Given the description of an element on the screen output the (x, y) to click on. 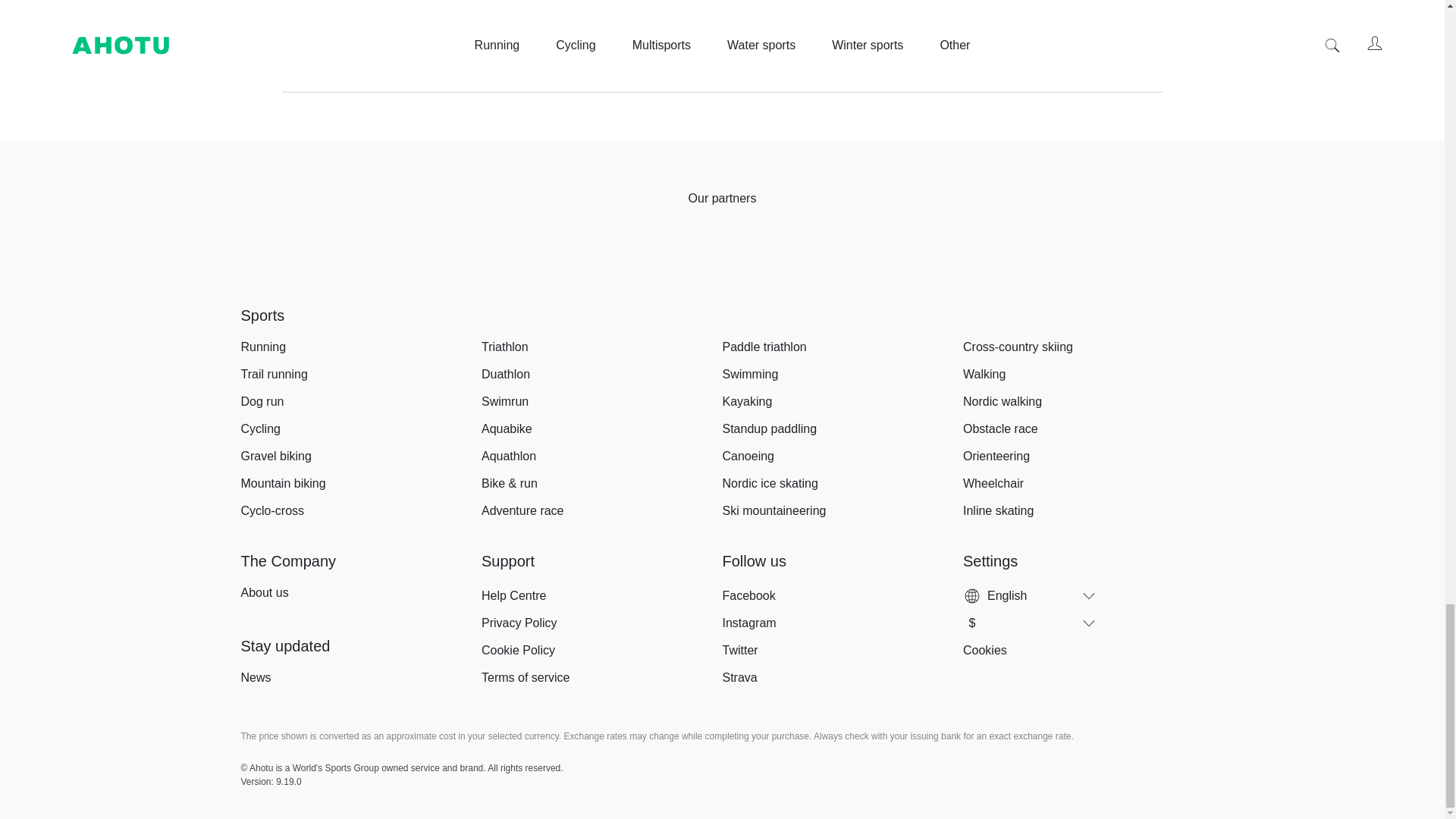
Subscribe (1075, 25)
Privacy Policy (1018, 60)
Terms of Service (936, 60)
